Given the description of an element on the screen output the (x, y) to click on. 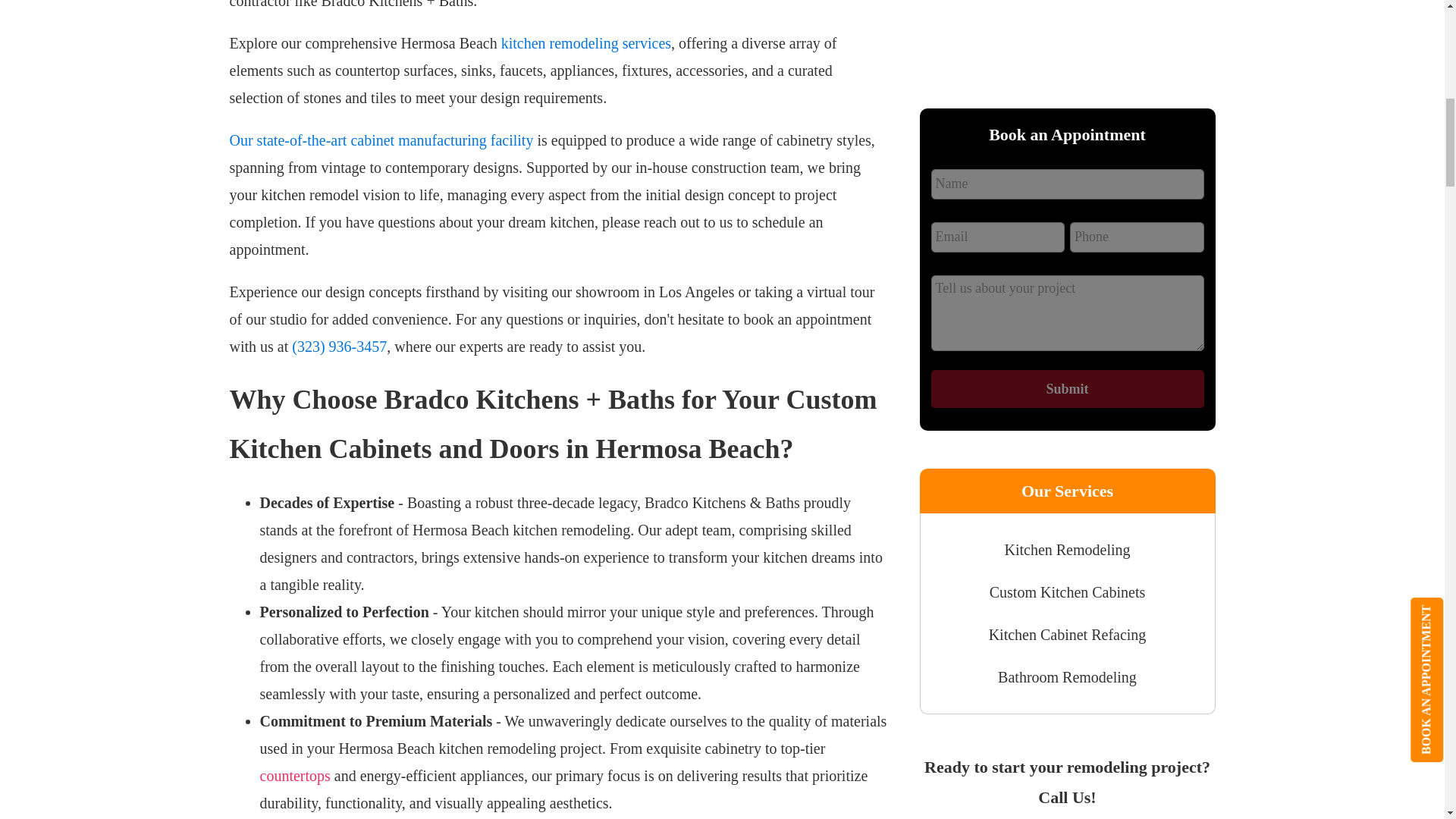
Our state-of-the-art cabinet manufacturing facility (380, 139)
kitchen remodeling services (584, 43)
countertops (294, 775)
